Given the description of an element on the screen output the (x, y) to click on. 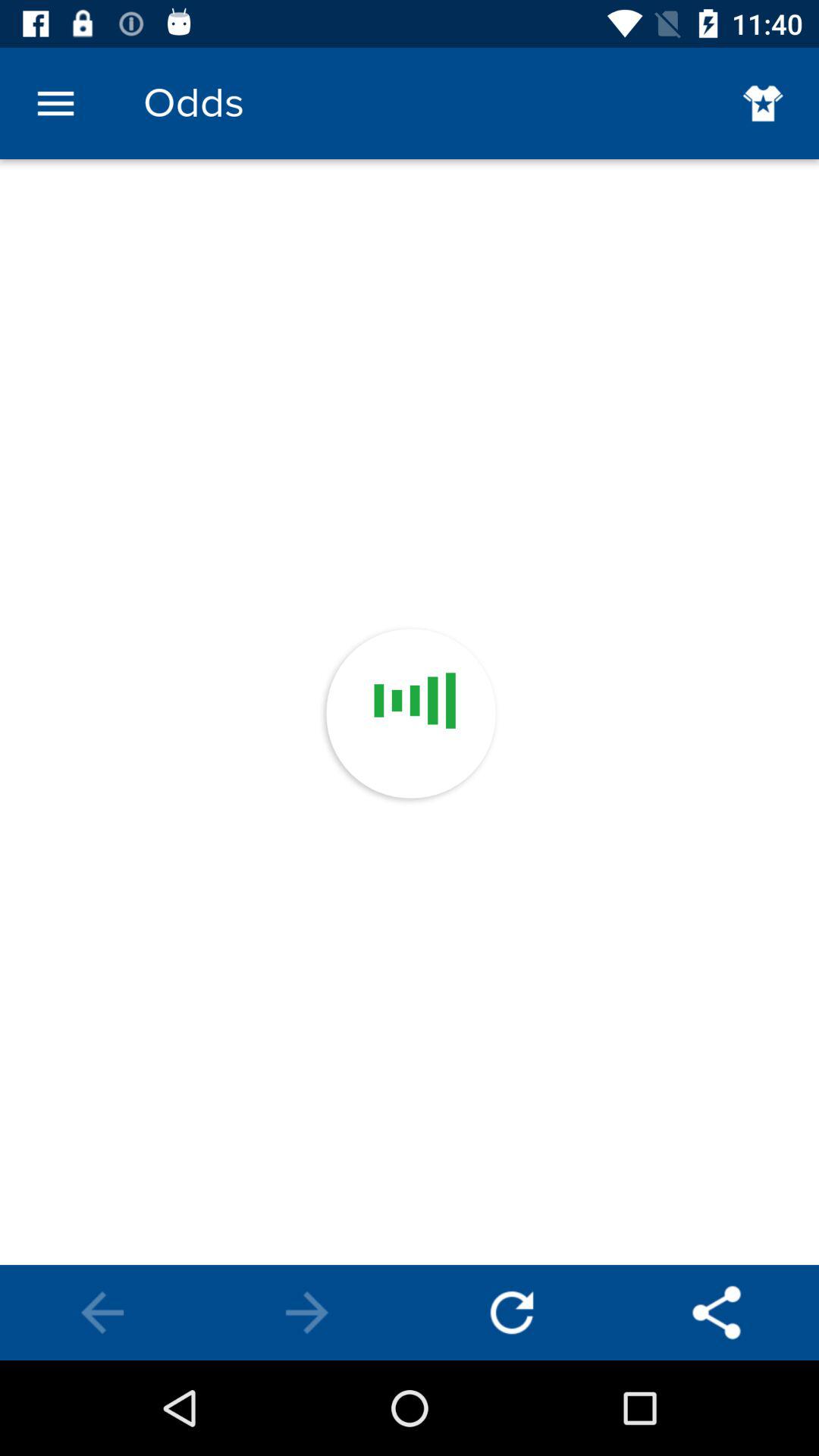
next page (306, 1312)
